Given the description of an element on the screen output the (x, y) to click on. 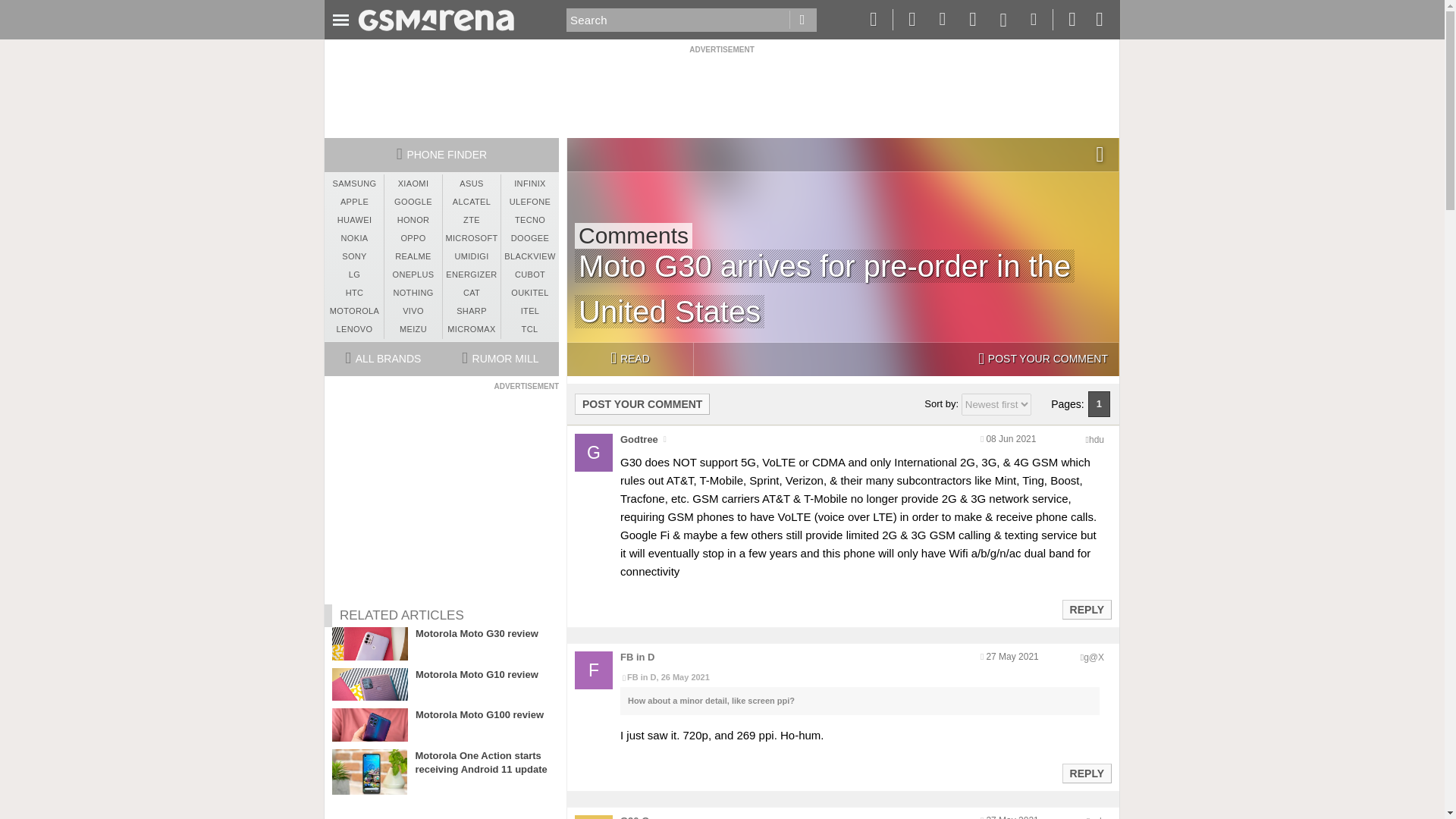
Reply to this post (1086, 773)
REPLY (1086, 609)
Go (802, 19)
READ (630, 359)
POST YOUR COMMENT (1042, 359)
REPLY (1086, 773)
POST YOUR COMMENT (642, 403)
Go (802, 19)
Reply to this post (1086, 609)
Encoded anonymized location (1096, 439)
Encoded anonymized location (1093, 656)
Godtree (639, 439)
Encoded anonymized location (1096, 817)
Sort comments by (995, 404)
